Given the description of an element on the screen output the (x, y) to click on. 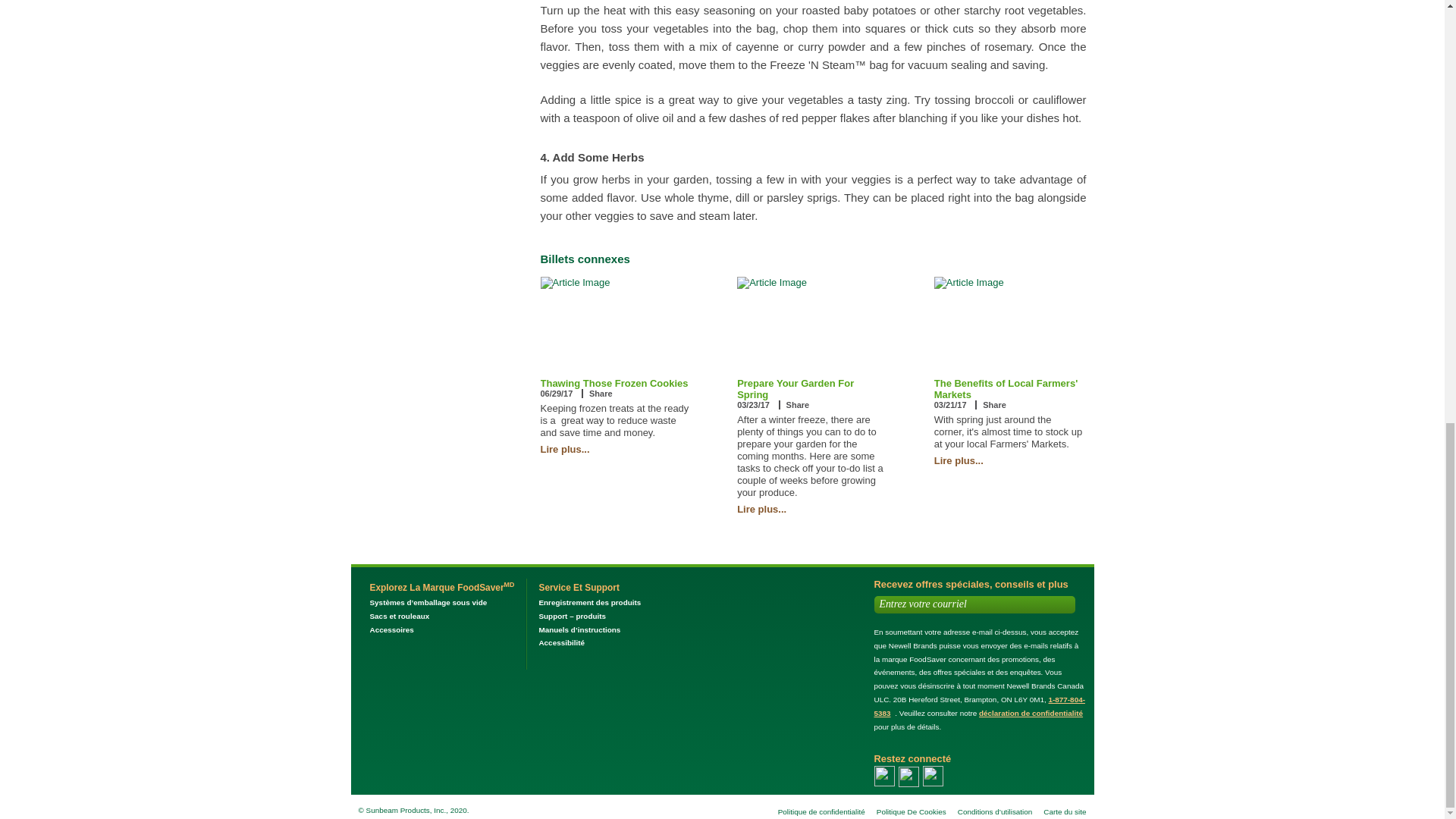
Lire plus... (959, 460)
Share (600, 393)
Lire plus... (564, 449)
Signup (1063, 604)
Share (797, 404)
Share (994, 404)
Lire plus... (761, 509)
Prepare Your Garden For Spring (794, 388)
Thawing Those Frozen Cookies (613, 383)
The Benefits of Local Farmers' Markets (1005, 388)
